Given the description of an element on the screen output the (x, y) to click on. 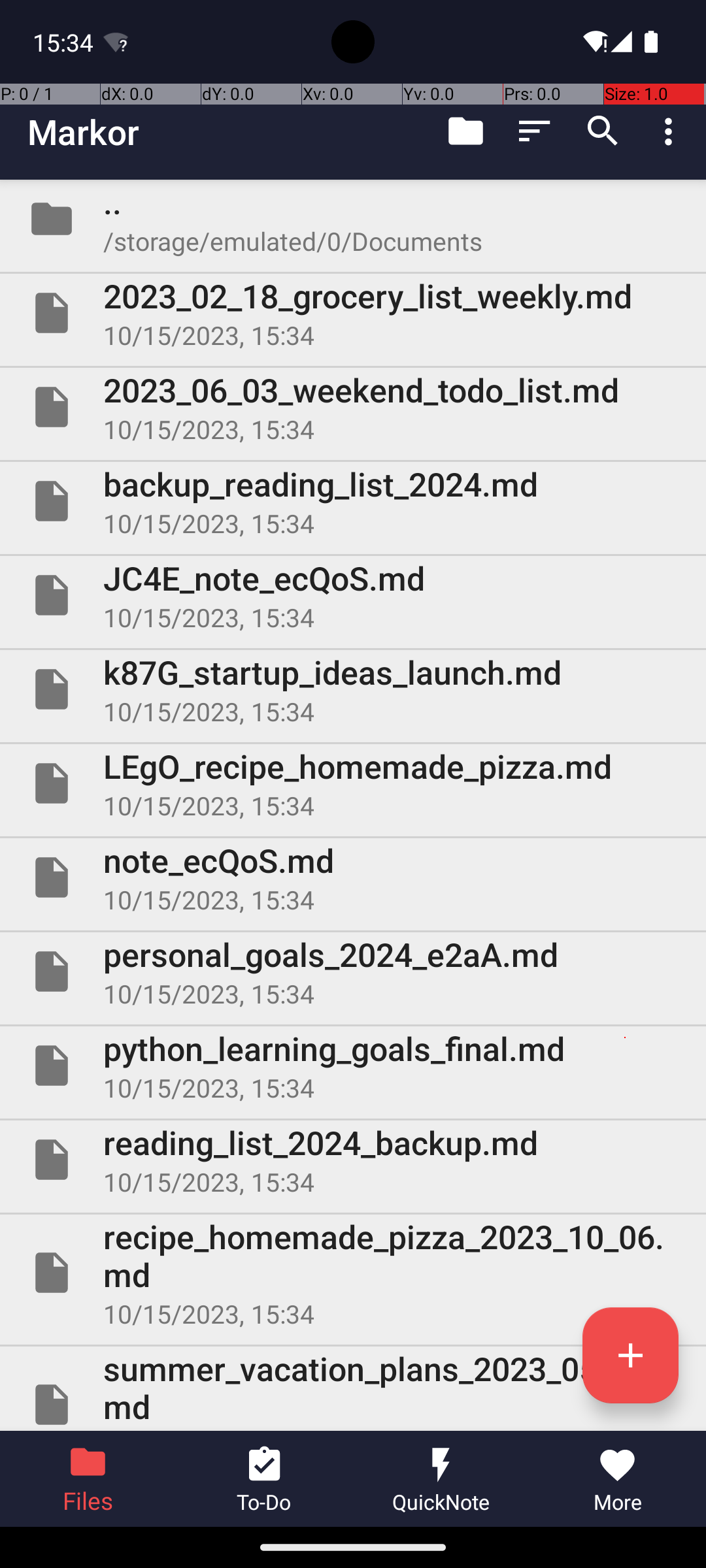
File 2023_02_18_grocery_list_weekly.md  Element type: android.widget.LinearLayout (353, 312)
File 2023_06_03_weekend_todo_list.md  Element type: android.widget.LinearLayout (353, 406)
File backup_reading_list_2024.md  Element type: android.widget.LinearLayout (353, 500)
File JC4E_note_ecQoS.md  Element type: android.widget.LinearLayout (353, 594)
File k87G_startup_ideas_launch.md  Element type: android.widget.LinearLayout (353, 689)
File LEgO_recipe_homemade_pizza.md  Element type: android.widget.LinearLayout (353, 783)
File note_ecQoS.md  Element type: android.widget.LinearLayout (353, 877)
File personal_goals_2024_e2aA.md  Element type: android.widget.LinearLayout (353, 971)
File python_learning_goals_final.md  Element type: android.widget.LinearLayout (353, 1065)
File reading_list_2024_backup.md  Element type: android.widget.LinearLayout (353, 1159)
File recipe_homemade_pizza_2023_10_06.md  Element type: android.widget.LinearLayout (353, 1272)
File summer_vacation_plans_2023_05_07.md  Element type: android.widget.LinearLayout (353, 1388)
